Given the description of an element on the screen output the (x, y) to click on. 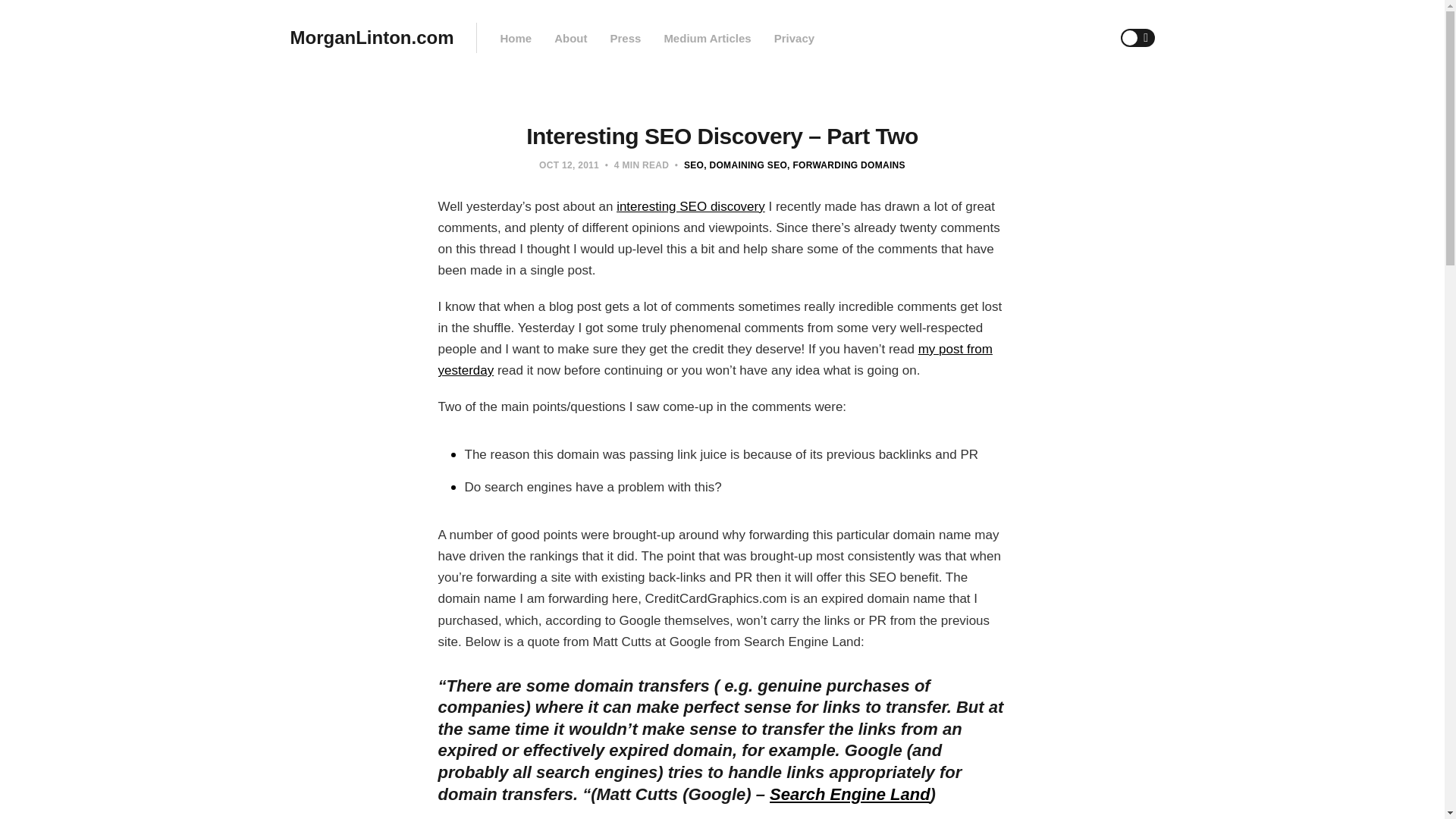
interesting SEO discovery (690, 206)
SEO (693, 164)
Medium Articles (707, 38)
Search Engine Land (850, 793)
my post from yesterday (715, 359)
Press (625, 38)
Privacy (793, 38)
Home (515, 38)
forwarding domains (846, 164)
FORWARDING DOMAINS (846, 164)
About (570, 38)
domaining seo (745, 164)
MorganLinton.com (370, 37)
DOMAINING SEO (745, 164)
SEO (693, 164)
